Given the description of an element on the screen output the (x, y) to click on. 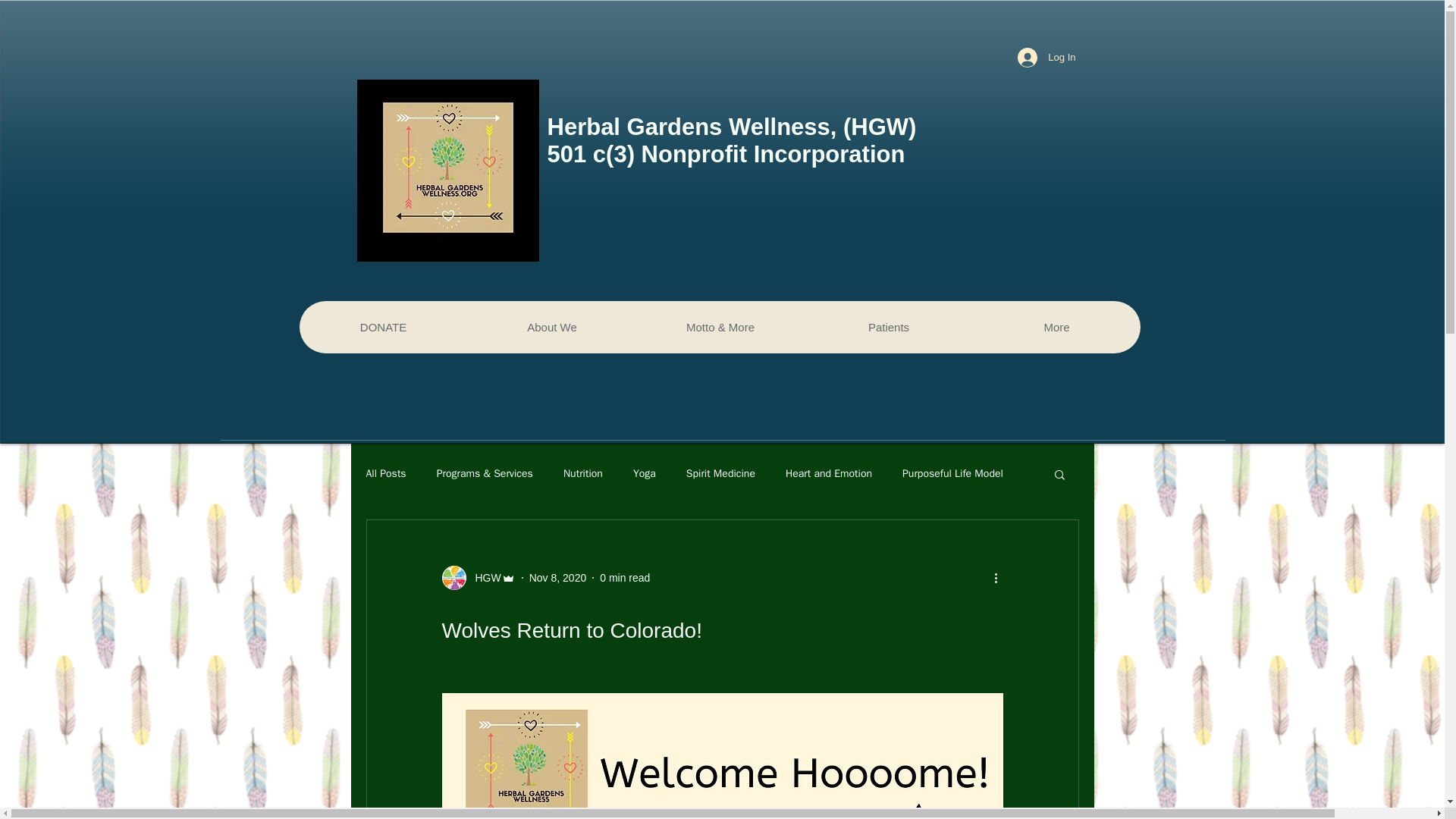
Heart and Emotion (829, 473)
All Posts (385, 473)
HGW (482, 578)
Nutrition (582, 473)
Spirit Medicine (720, 473)
0 min read (624, 577)
Purposeful Life Model (952, 473)
HGW (478, 577)
About We (550, 326)
Nov 8, 2020 (557, 577)
